Given the description of an element on the screen output the (x, y) to click on. 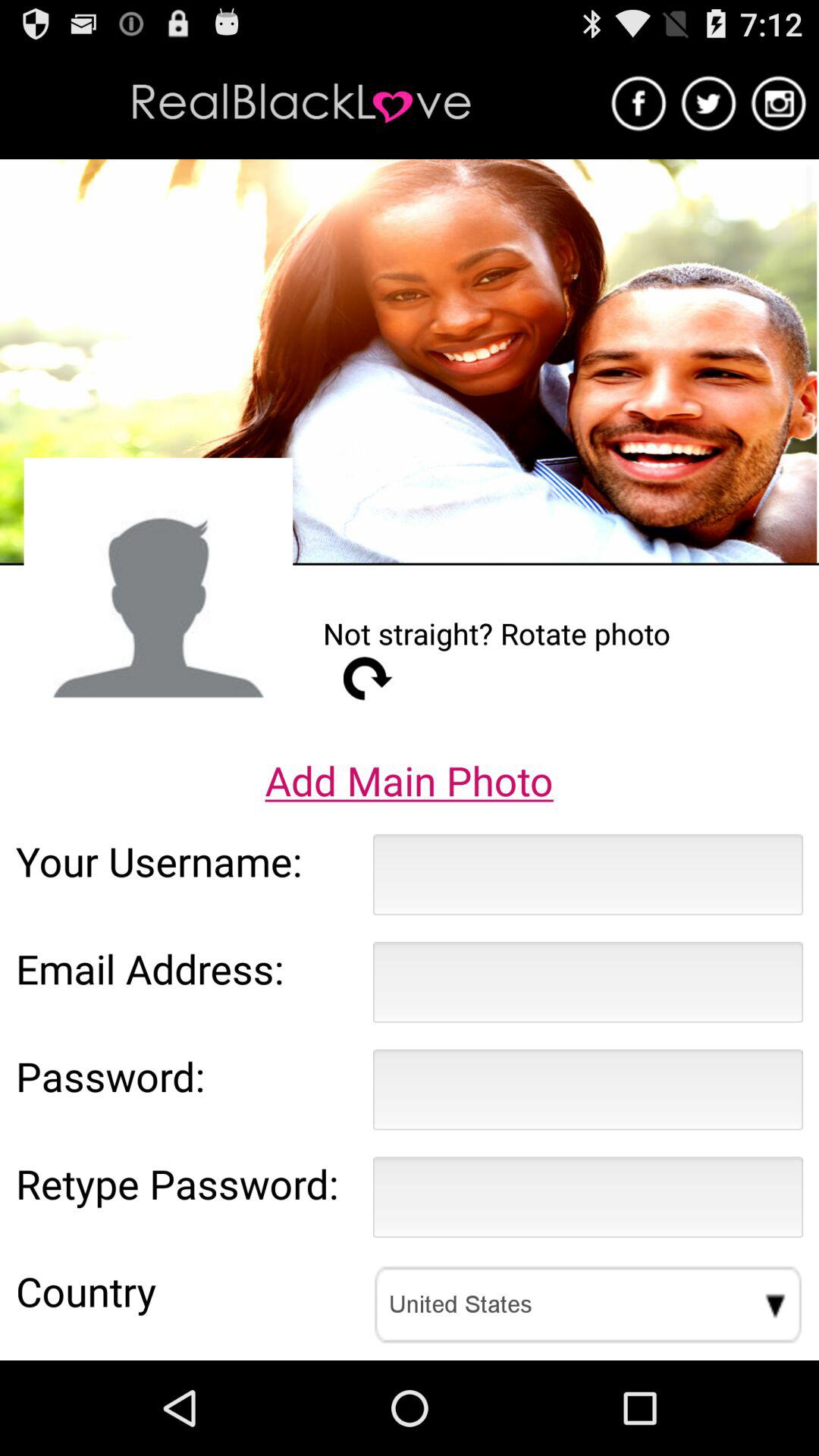
launch the item below the not straight rotate item (367, 678)
